Given the description of an element on the screen output the (x, y) to click on. 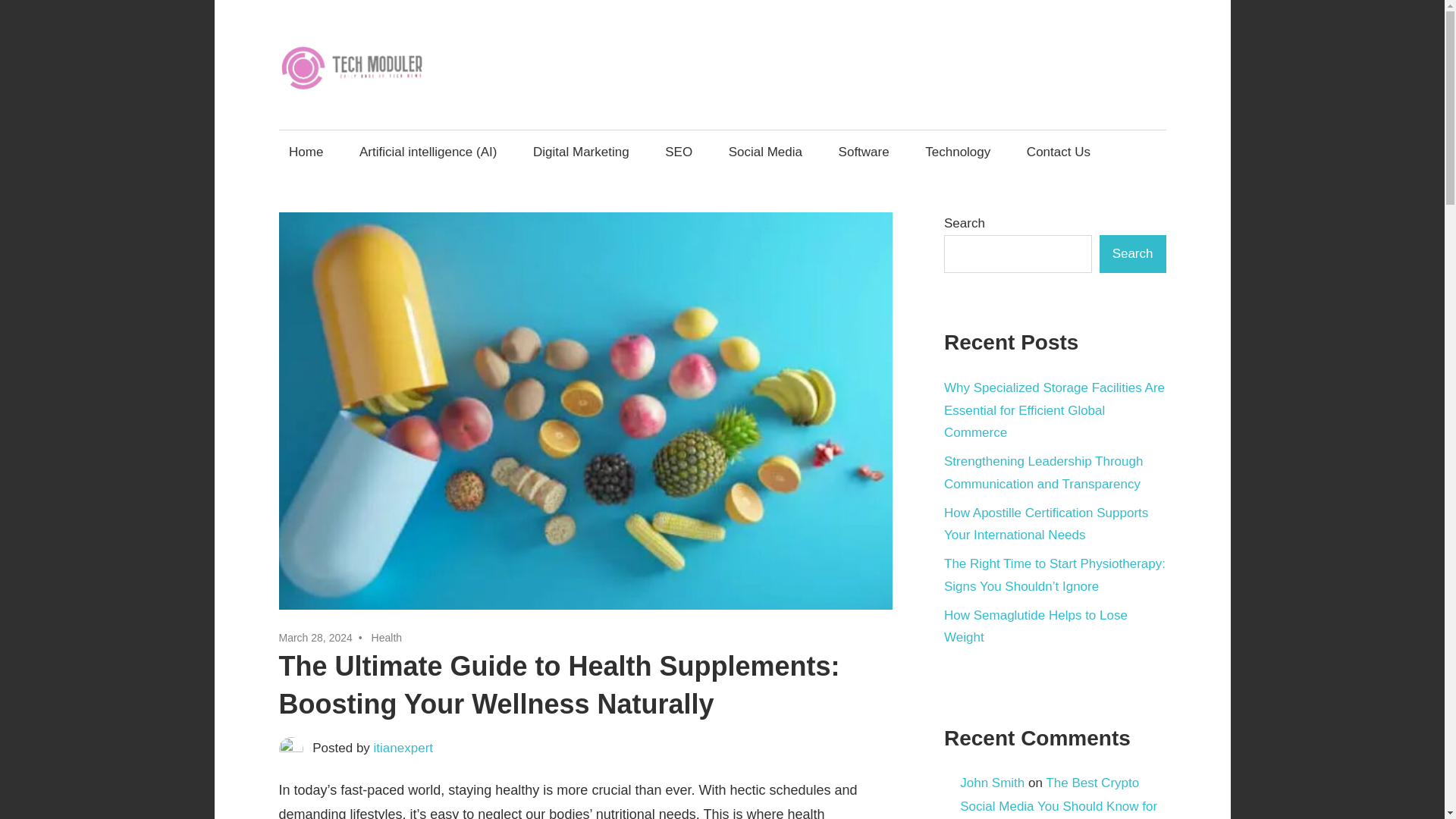
Software (863, 151)
SEO (679, 151)
View all posts by itianexpert (403, 748)
Digital Marketing (580, 151)
Home (306, 151)
John Smith (992, 782)
How Semaglutide Helps to Lose Weight (1034, 626)
Contact Us (1058, 151)
Social Media (764, 151)
